Given the description of an element on the screen output the (x, y) to click on. 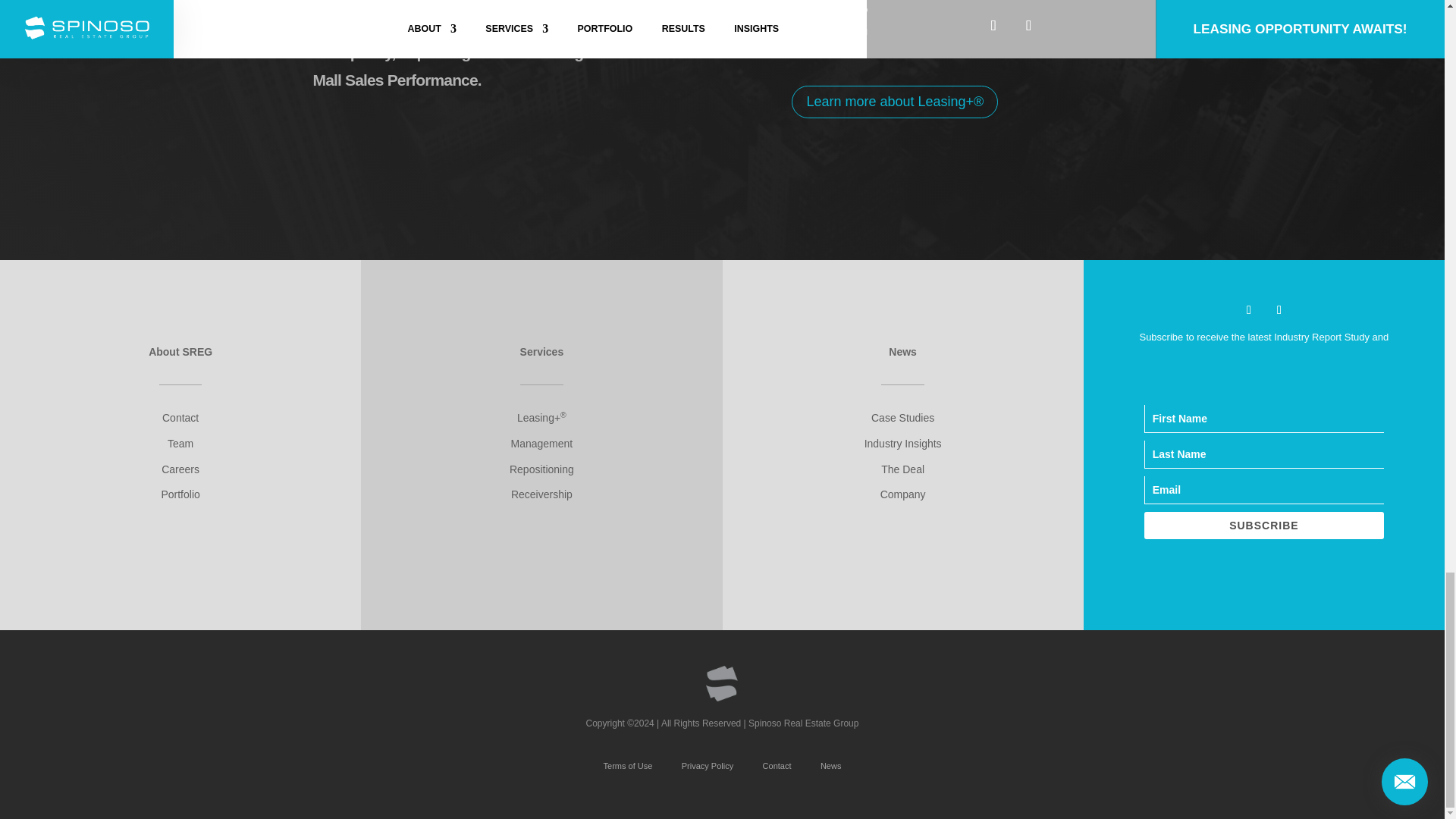
Follow on Instagram (1278, 310)
Follow on LinkedIn (1248, 310)
